Given the description of an element on the screen output the (x, y) to click on. 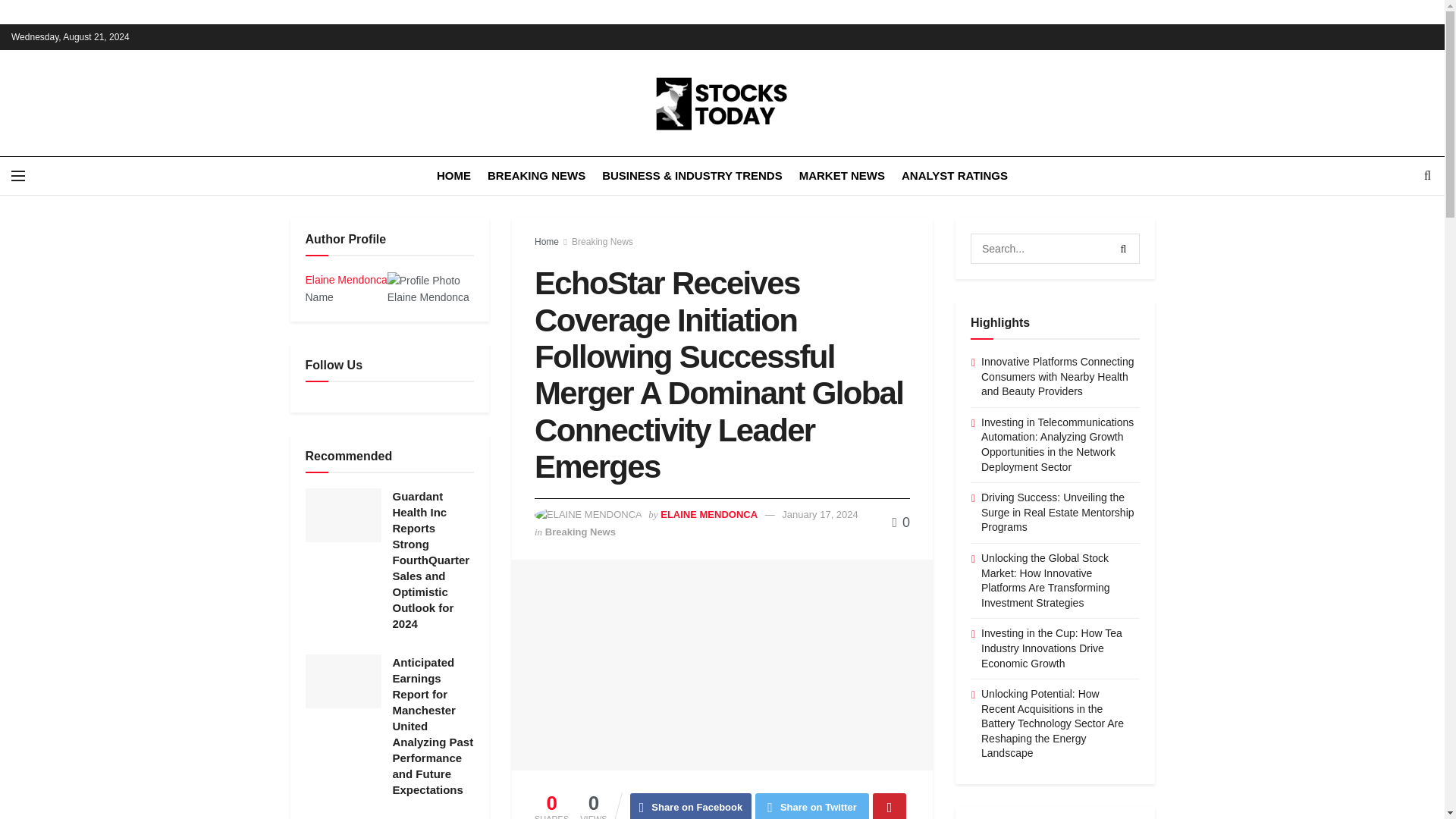
Breaking News (579, 531)
0 (900, 522)
Share on Facebook (691, 806)
Breaking News (602, 241)
ELAINE MENDONCA (709, 514)
HOME (453, 175)
MARKET NEWS (842, 175)
Home (546, 241)
January 17, 2024 (819, 514)
Share on Twitter (812, 806)
